Given the description of an element on the screen output the (x, y) to click on. 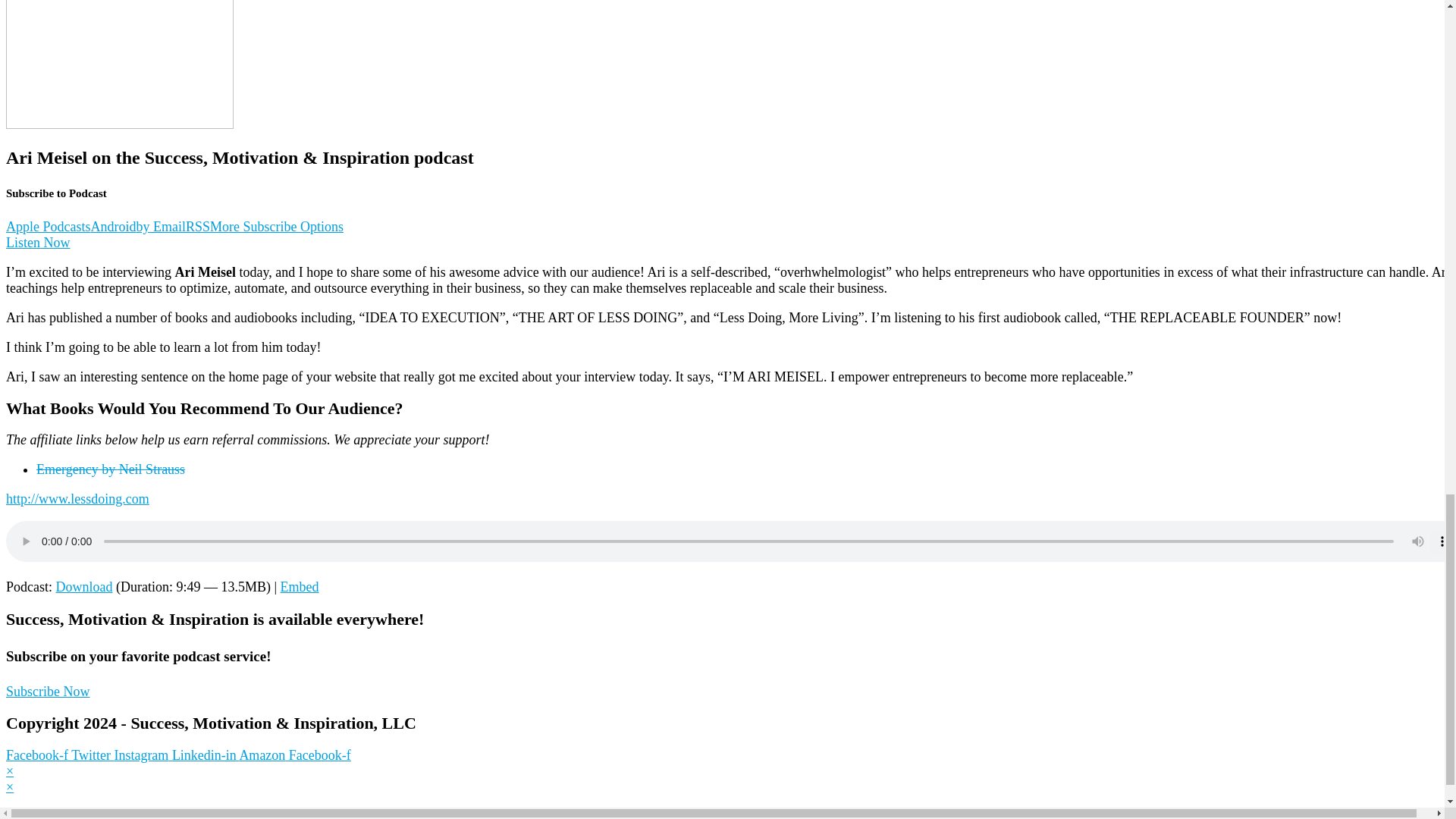
Embed (299, 586)
Subscribe by Email (161, 226)
Download (84, 586)
Subscribe on Android (113, 226)
Subscribe via RSS (197, 226)
More Subscribe Options (276, 226)
Subscribe on Apple Podcasts (47, 226)
